Given the description of an element on the screen output the (x, y) to click on. 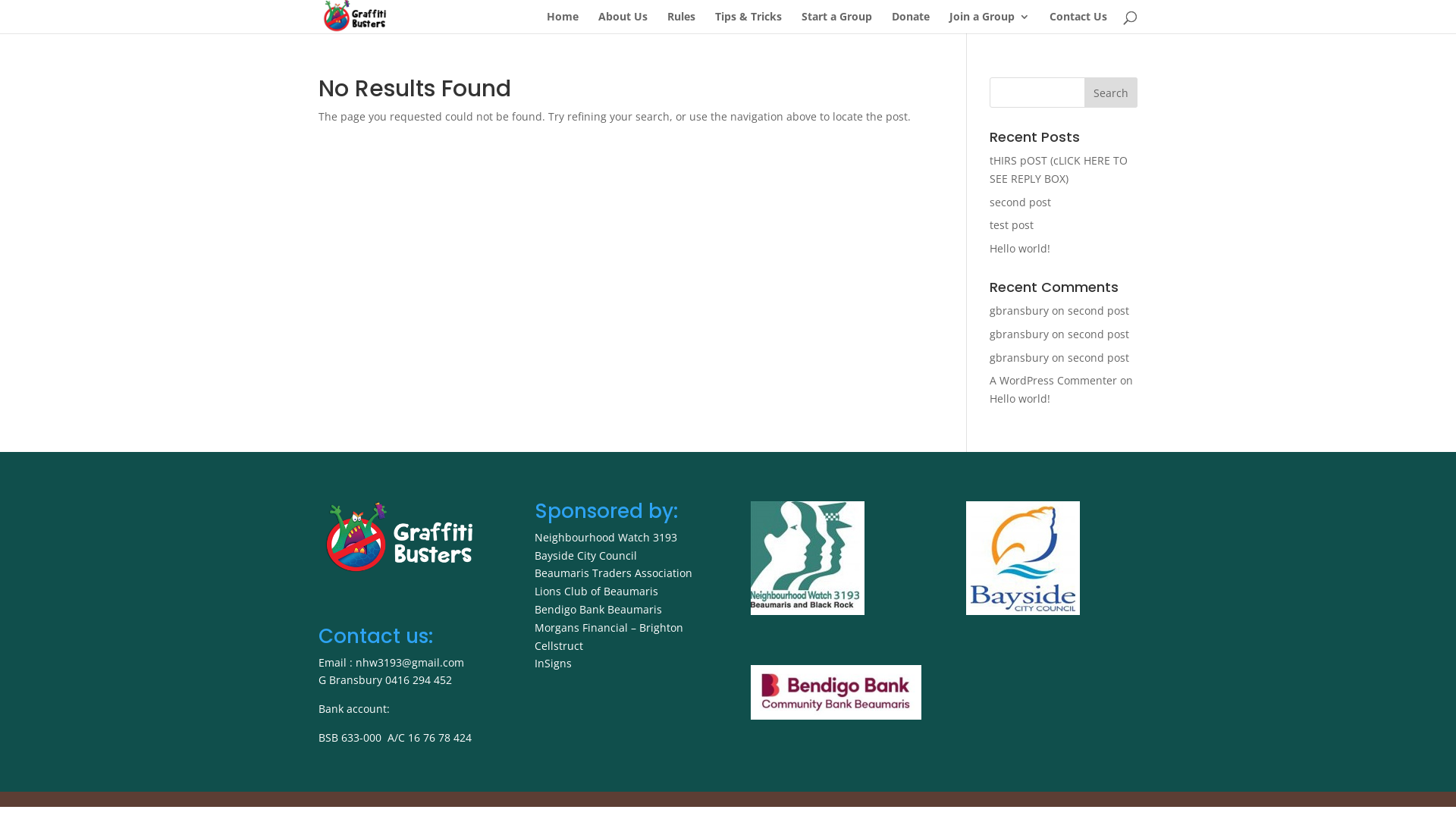
A WordPress Commenter Element type: text (1053, 380)
Search Element type: text (1110, 92)
gbransbury Element type: text (1018, 310)
Tips & Tricks Element type: text (748, 22)
gbransbury Element type: text (1018, 357)
About Us Element type: text (622, 22)
Start a Group Element type: text (836, 22)
Contact Us Element type: text (1078, 22)
Donate Element type: text (910, 22)
second post Element type: text (1098, 310)
second post Element type: text (1020, 201)
tHIRS pOST (cLICK HERE TO SEE REPLY BOX) Element type: text (1058, 169)
second post Element type: text (1098, 333)
second post Element type: text (1098, 357)
Rules Element type: text (681, 22)
gbransbury Element type: text (1018, 333)
test post Element type: text (1011, 224)
Home Element type: text (562, 22)
Hello world! Element type: text (1019, 248)
Join a Group Element type: text (989, 22)
Hello world! Element type: text (1019, 398)
